Given the description of an element on the screen output the (x, y) to click on. 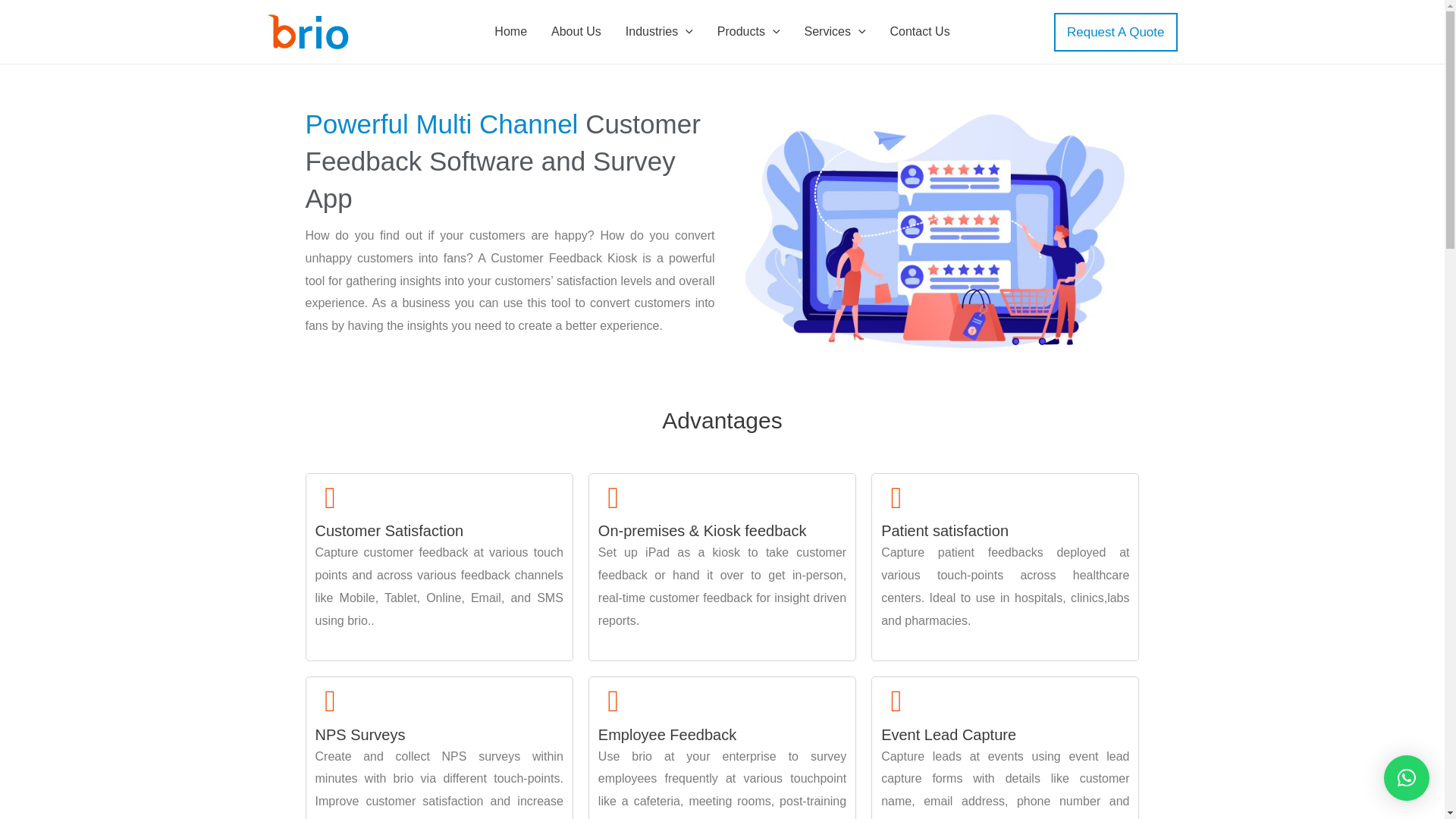
Home (509, 31)
Industries (658, 31)
Products (748, 31)
About Us (575, 31)
